Given the description of an element on the screen output the (x, y) to click on. 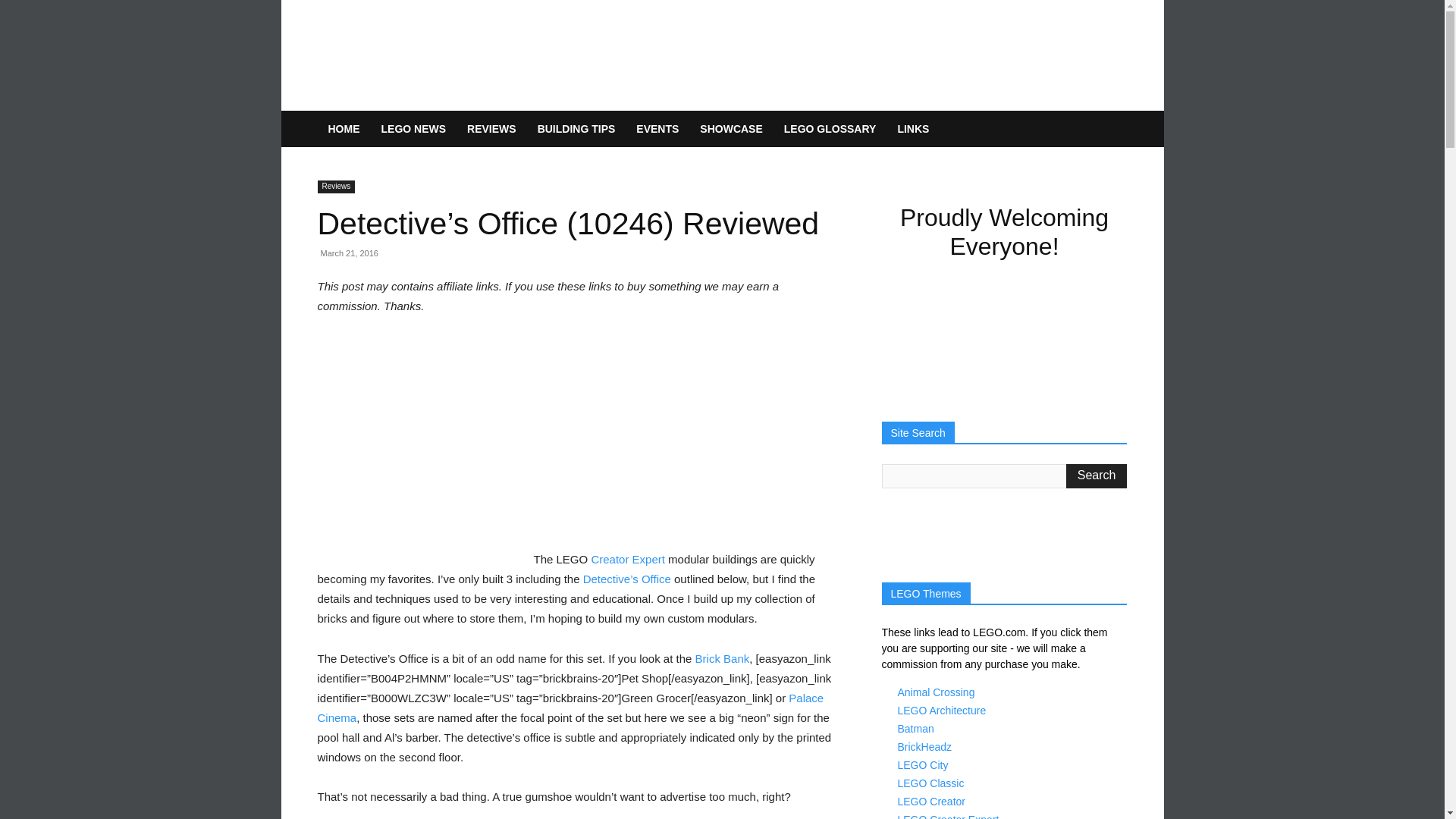
SHOWCASE (730, 128)
REVIEWS (492, 128)
LEGO GLOSSARY (829, 128)
Creator Expert (628, 558)
Reviews (336, 186)
LINKS (912, 128)
LEGO NEWS (413, 128)
EVENTS (657, 128)
Search (1095, 476)
Palace Cinema (570, 707)
